Given the description of an element on the screen output the (x, y) to click on. 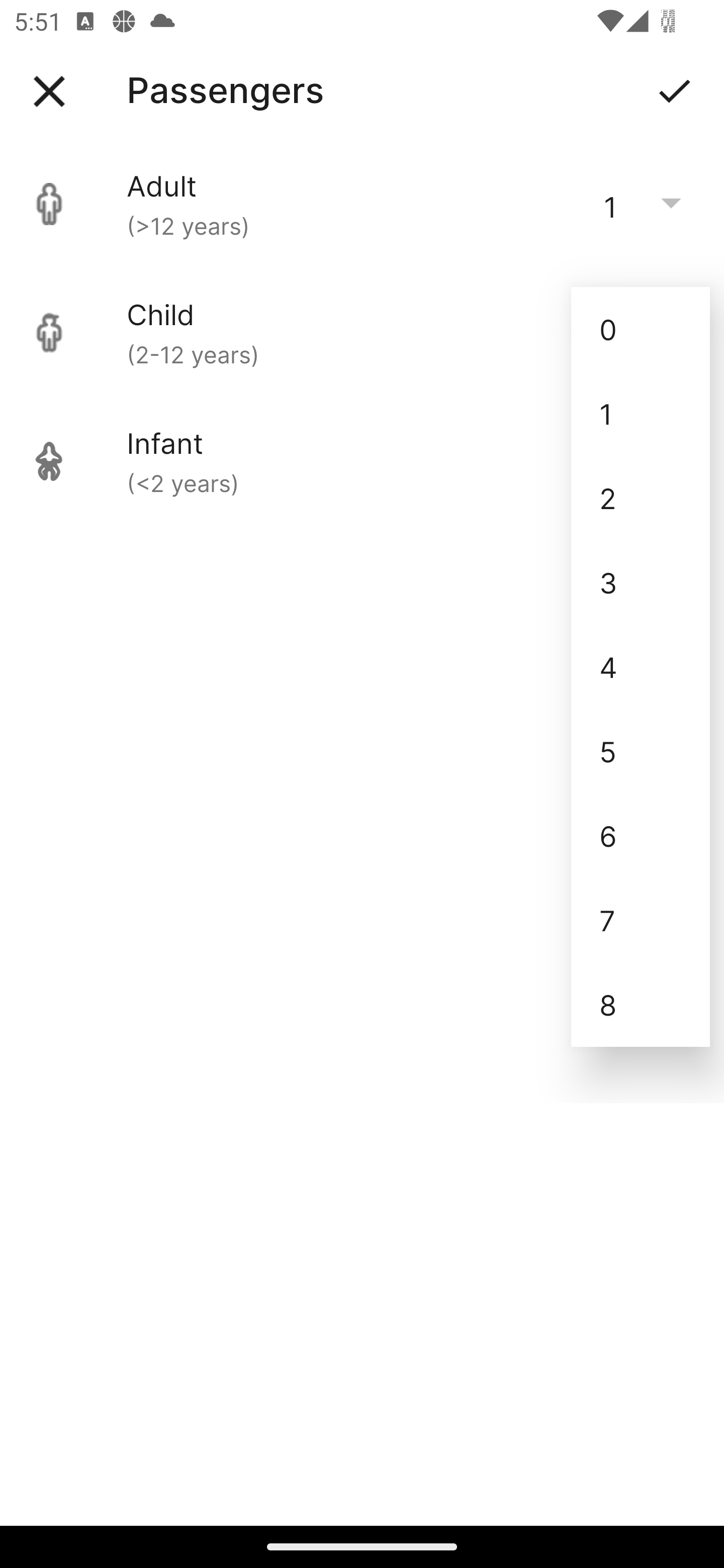
0 (640, 328)
1 (640, 413)
2 (640, 498)
3 (640, 582)
4 (640, 666)
5 (640, 750)
6 (640, 835)
7 (640, 920)
8 (640, 1004)
